Given the description of an element on the screen output the (x, y) to click on. 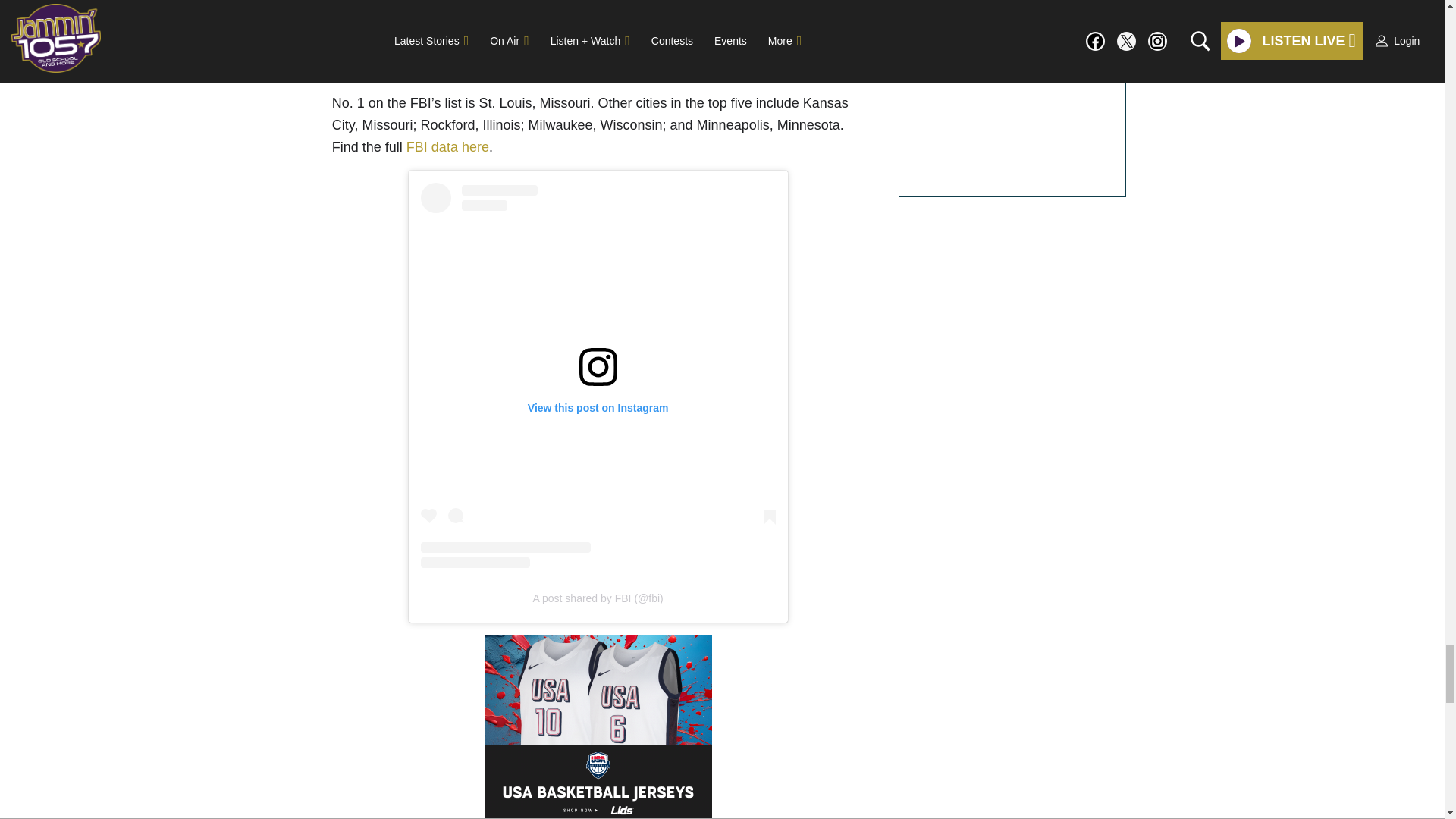
3rd party ad content (597, 726)
